Given the description of an element on the screen output the (x, y) to click on. 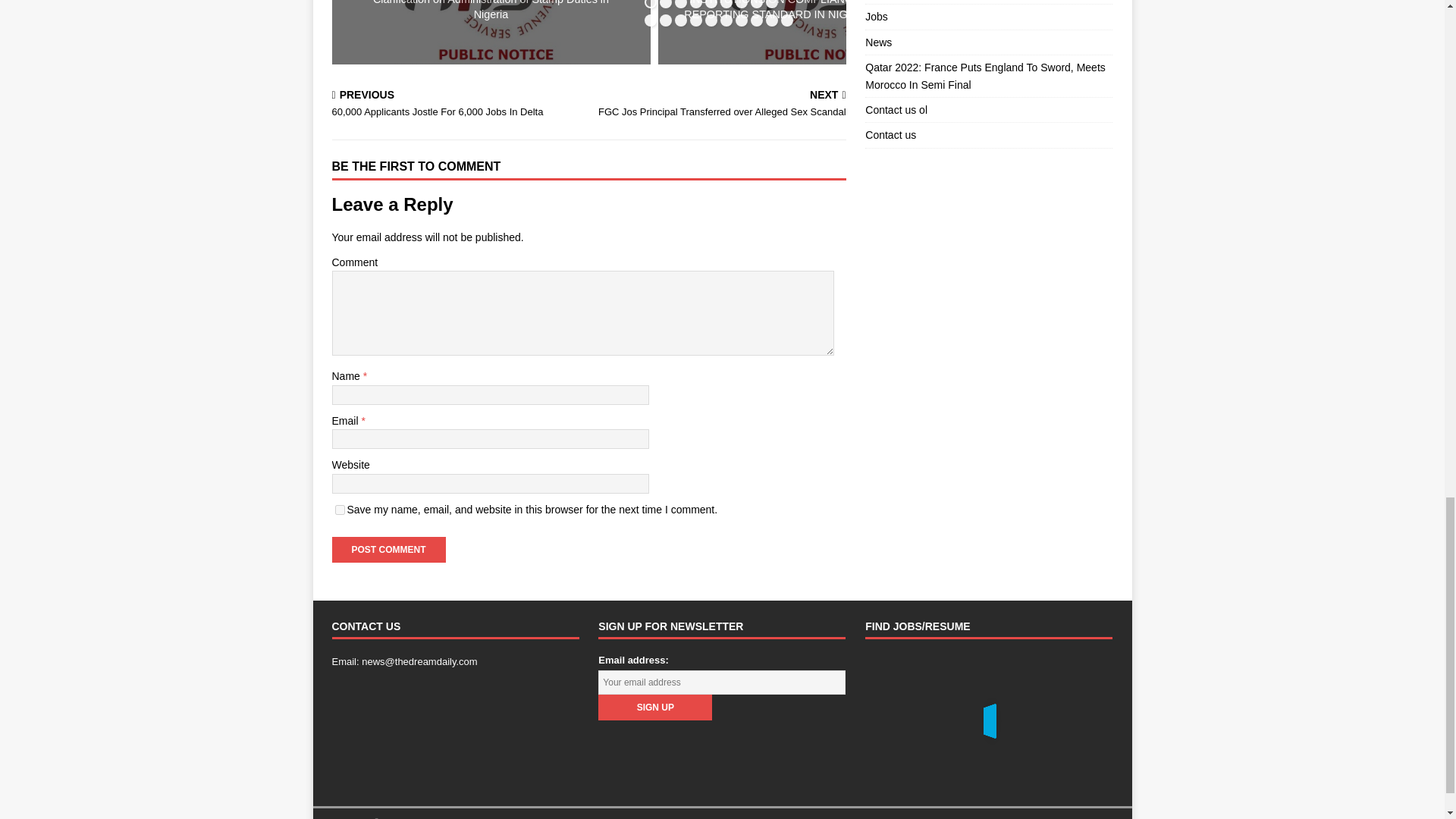
yes (339, 510)
FIRS public notice (490, 32)
Sign up (654, 707)
FIRS public notice (817, 32)
Post Comment (388, 549)
